Given the description of an element on the screen output the (x, y) to click on. 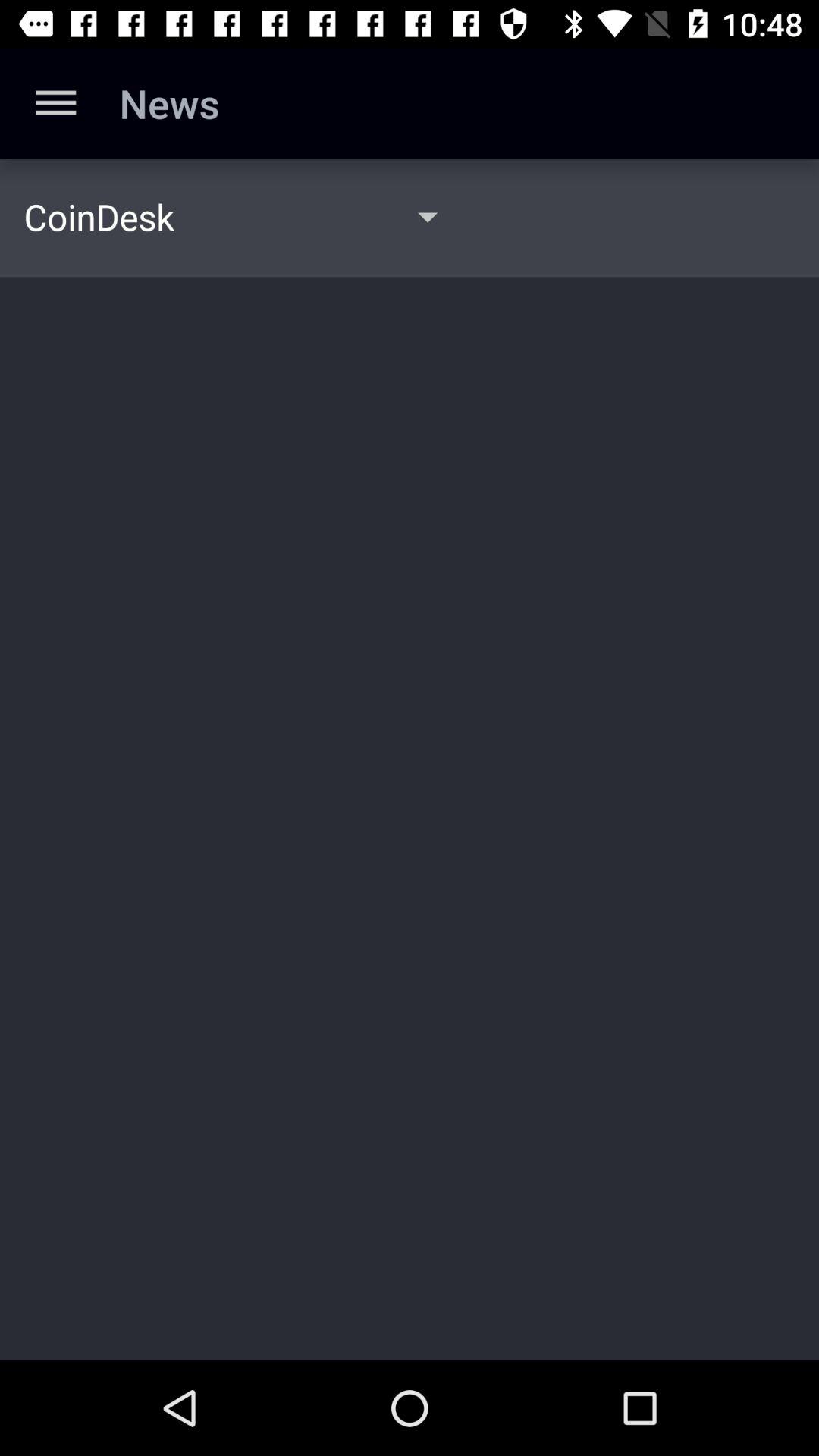
select icon above coindesk item (55, 103)
